Given the description of an element on the screen output the (x, y) to click on. 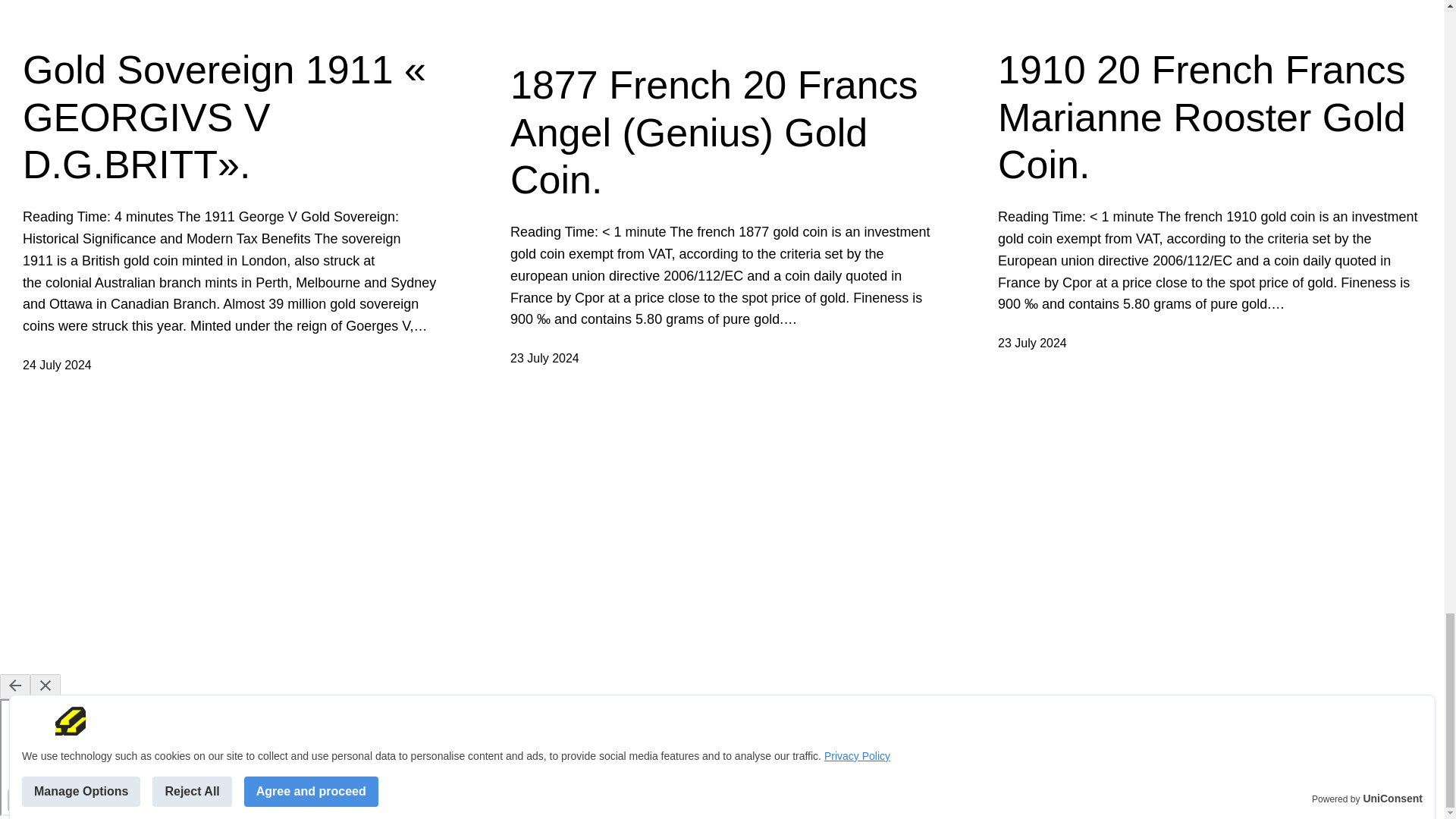
1910 20 French Francs Marianne Rooster Gold Coin. (1209, 116)
